Given the description of an element on the screen output the (x, y) to click on. 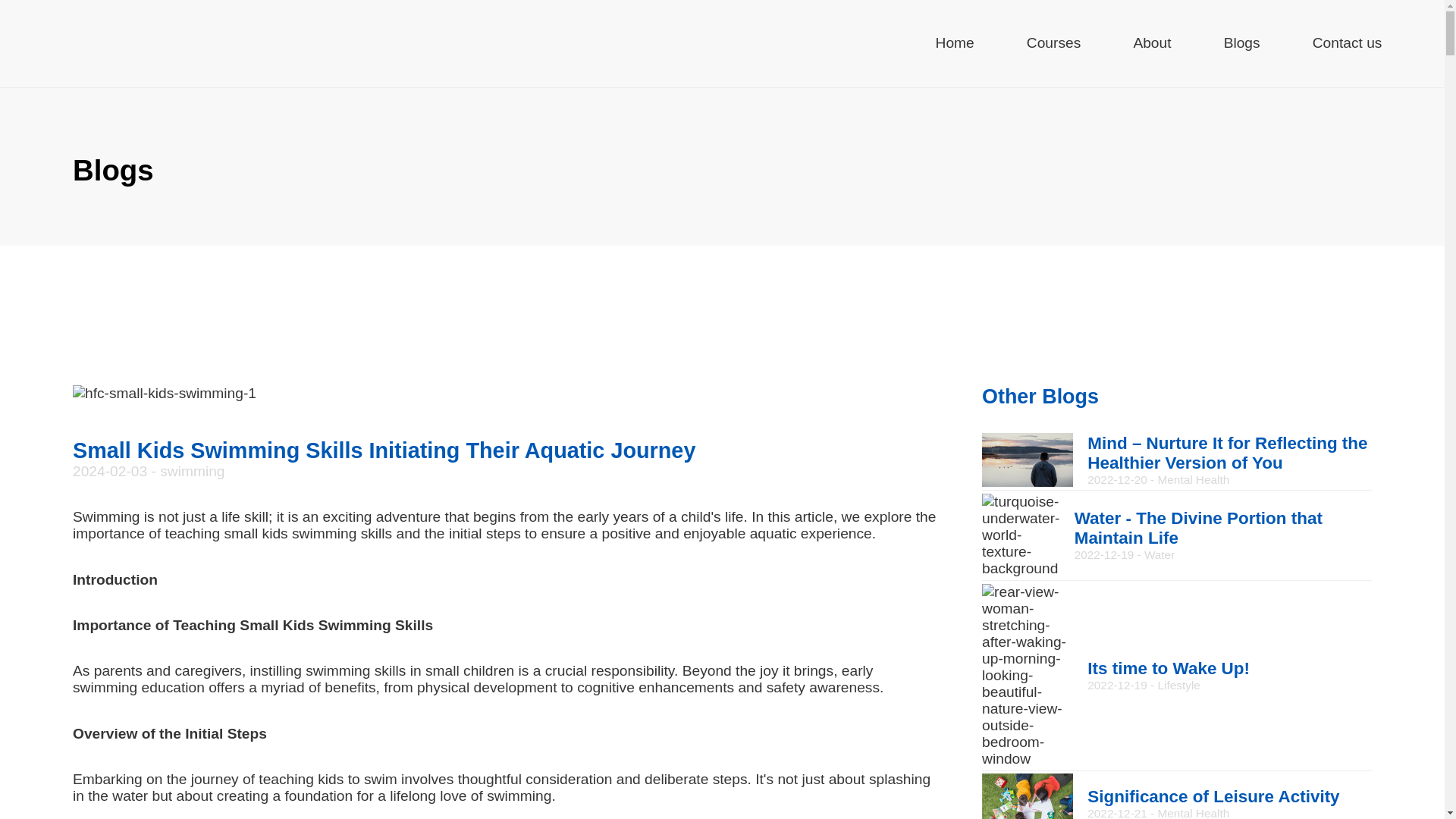
About (1176, 675)
Home (1151, 44)
Blogs (1176, 795)
Contact us (955, 44)
Courses (1242, 44)
